Given the description of an element on the screen output the (x, y) to click on. 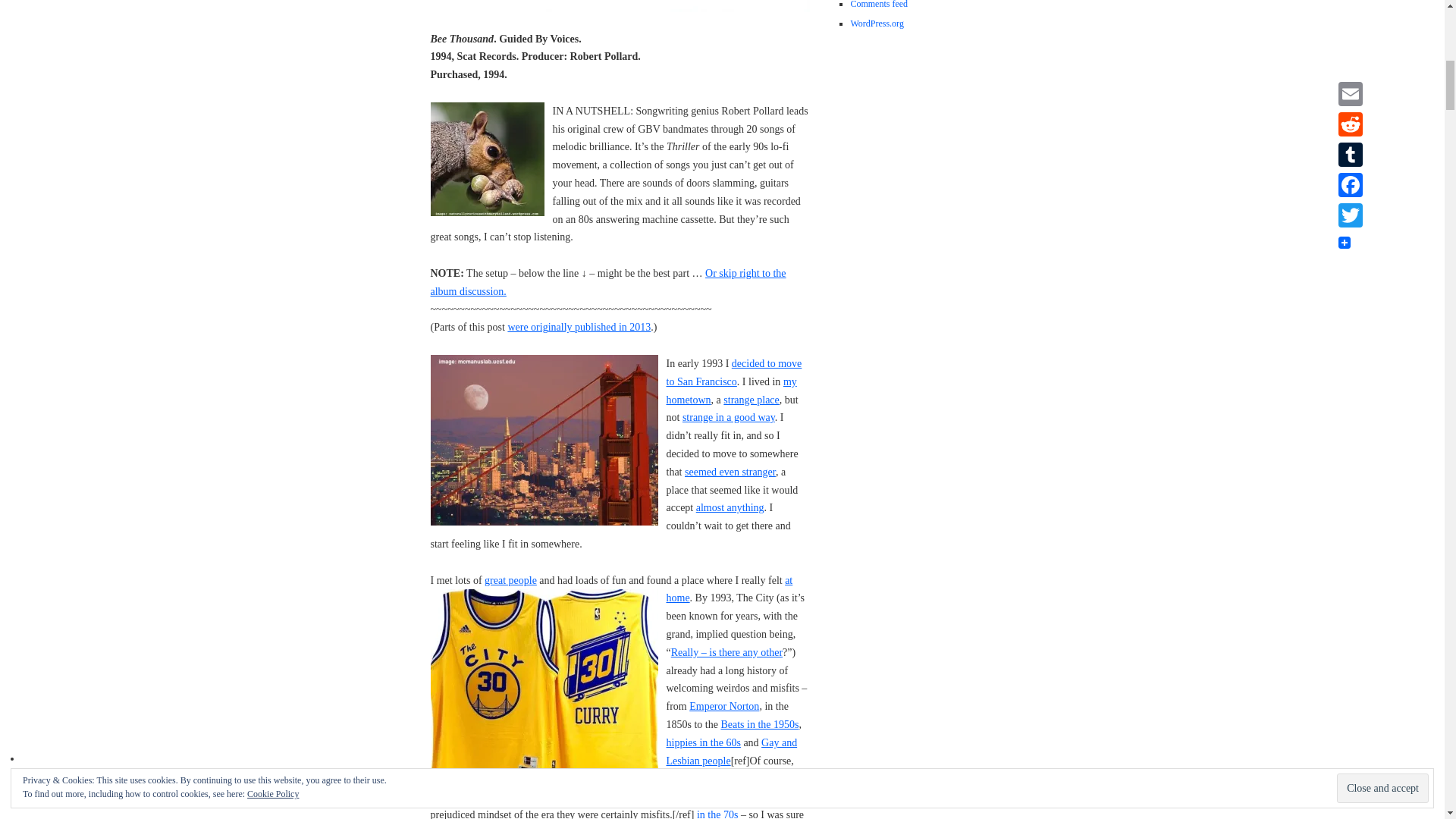
almost anything (729, 507)
strange in a good way (728, 417)
my hometown (730, 390)
great people (510, 580)
strange place (750, 399)
Gay and Lesbian people (730, 751)
Or skip right to the album discussion. (608, 282)
were originally published in 2013 (578, 326)
Emperor Norton (723, 706)
seemed even stranger (730, 471)
Beats in the 1950s (758, 724)
hippies in the 60s (702, 742)
in the 70s (716, 814)
at home (728, 589)
decided to move to San Francisco (733, 372)
